Given the description of an element on the screen output the (x, y) to click on. 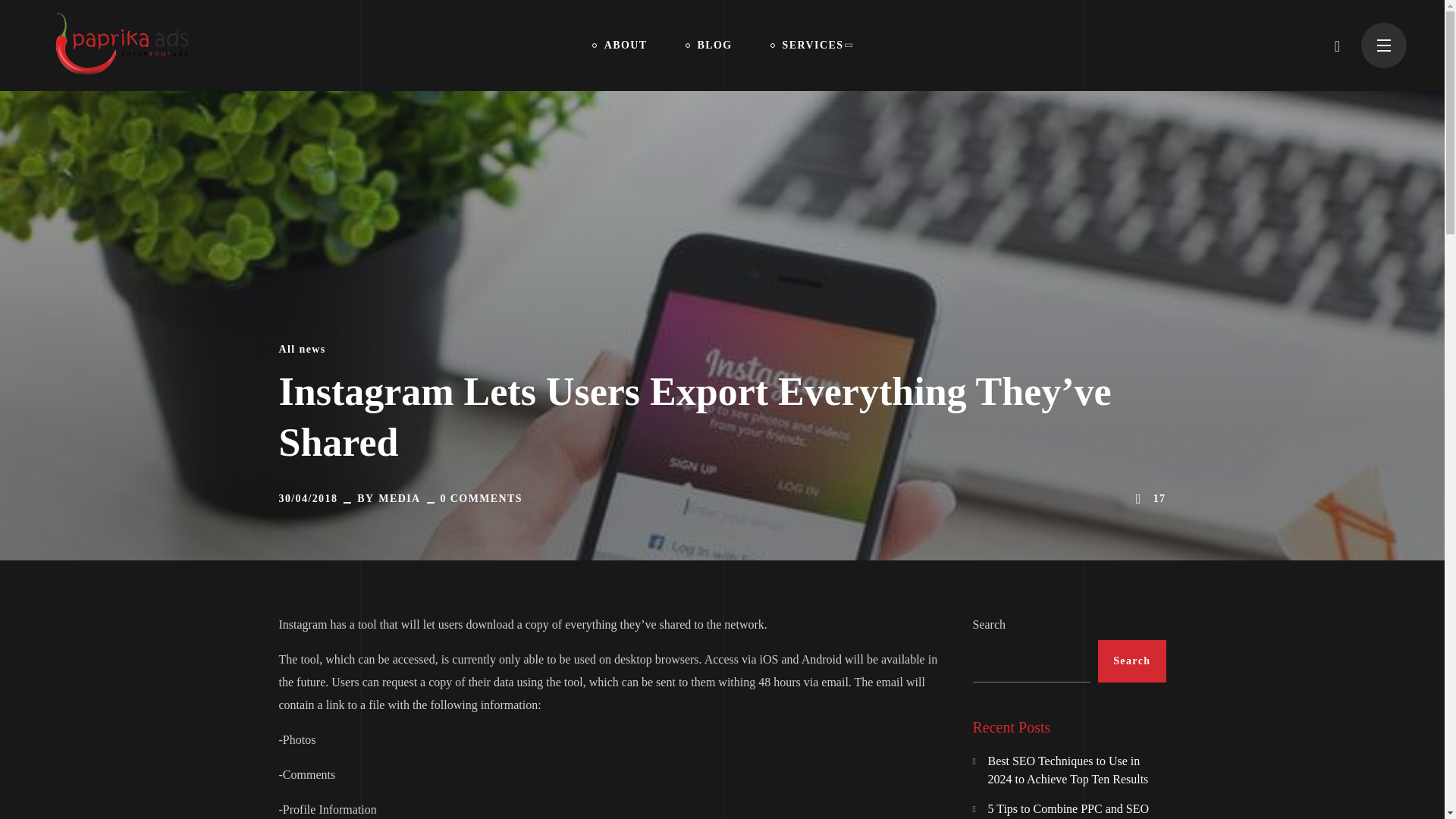
Like (1149, 498)
ABOUT (619, 45)
BLOG (708, 45)
Leave a reply (481, 498)
SERVICES (811, 45)
